Given the description of an element on the screen output the (x, y) to click on. 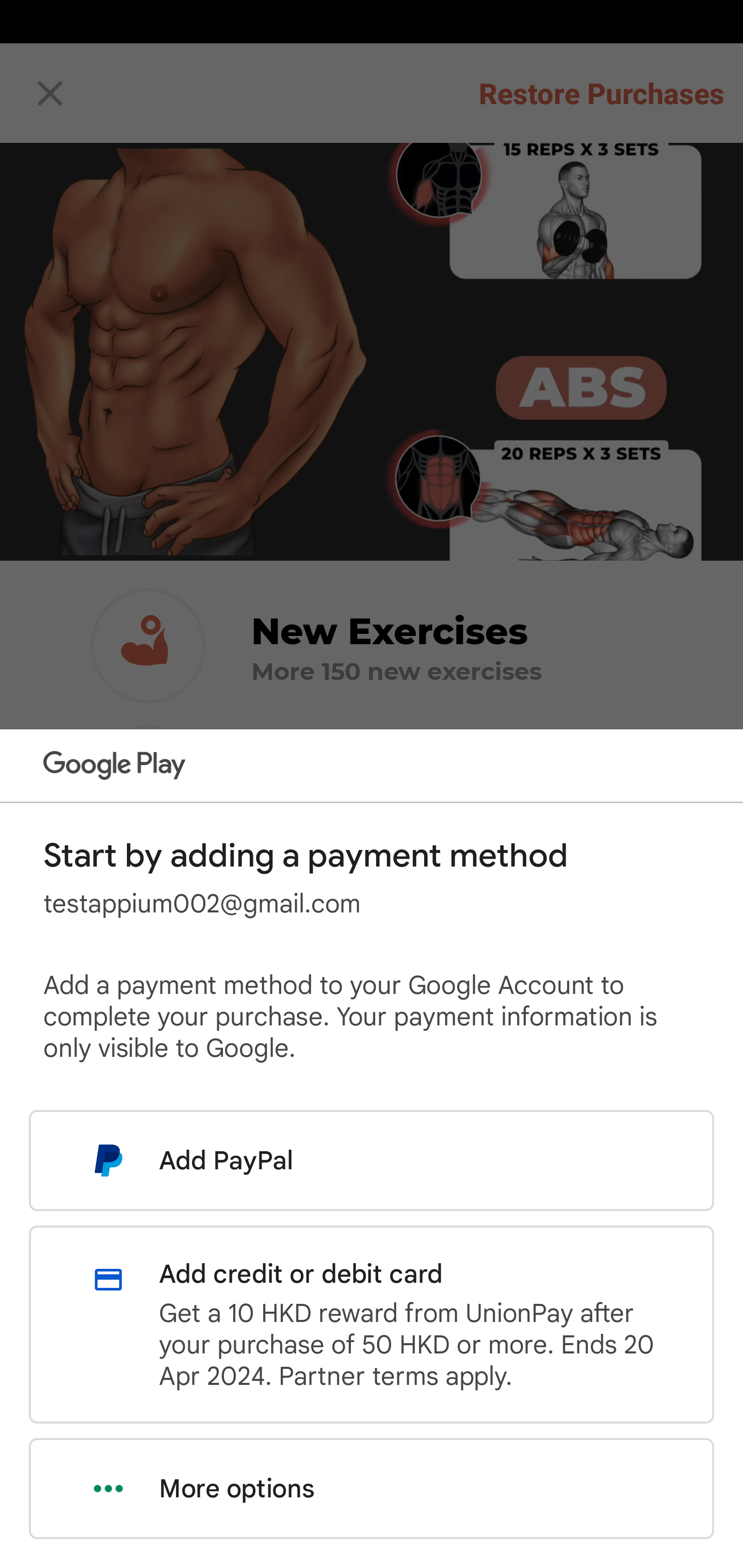
Add PayPal (371, 1160)
More options (371, 1488)
